Given the description of an element on the screen output the (x, y) to click on. 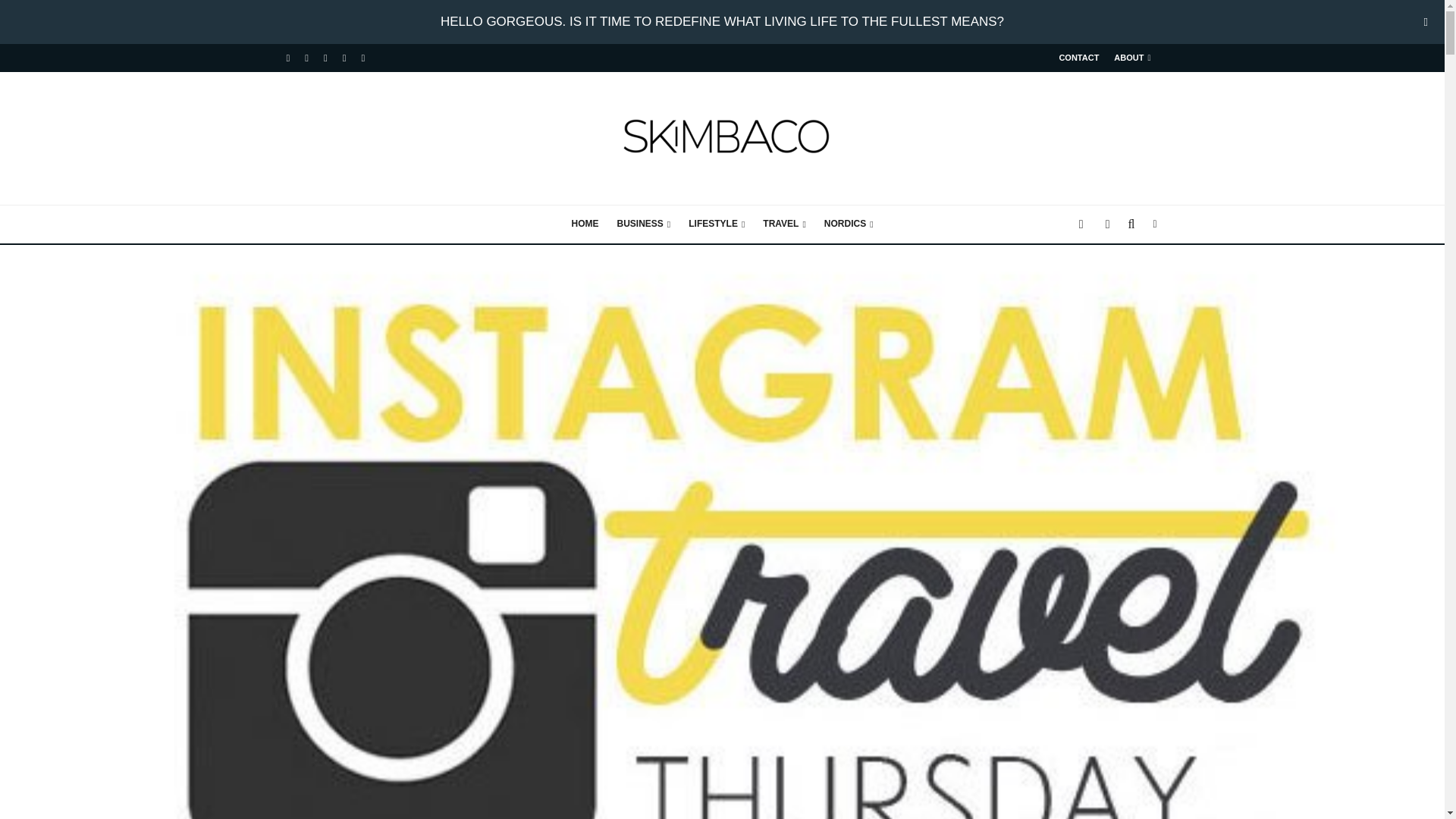
HOME (584, 224)
ABOUT (1131, 58)
CONTACT (1078, 58)
BUSINESS (643, 224)
LIFESTYLE (716, 224)
